Given the description of an element on the screen output the (x, y) to click on. 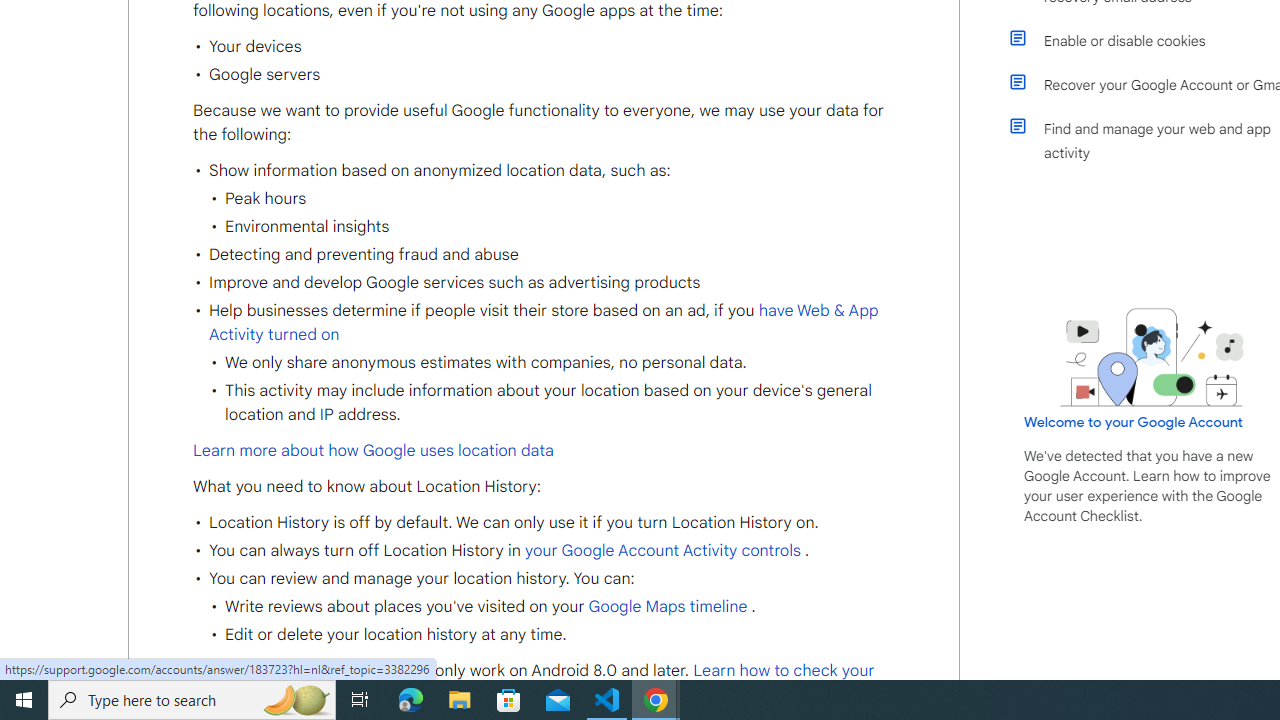
your Google Account Activity controls (662, 550)
Welcome to your Google Account (1134, 422)
Learn more about how Google uses location data (373, 450)
have Web & App Activity turned on (543, 322)
Learning Center home page image (1152, 357)
Google Maps timeline (667, 606)
Learn how to check your Android version (534, 682)
